Given the description of an element on the screen output the (x, y) to click on. 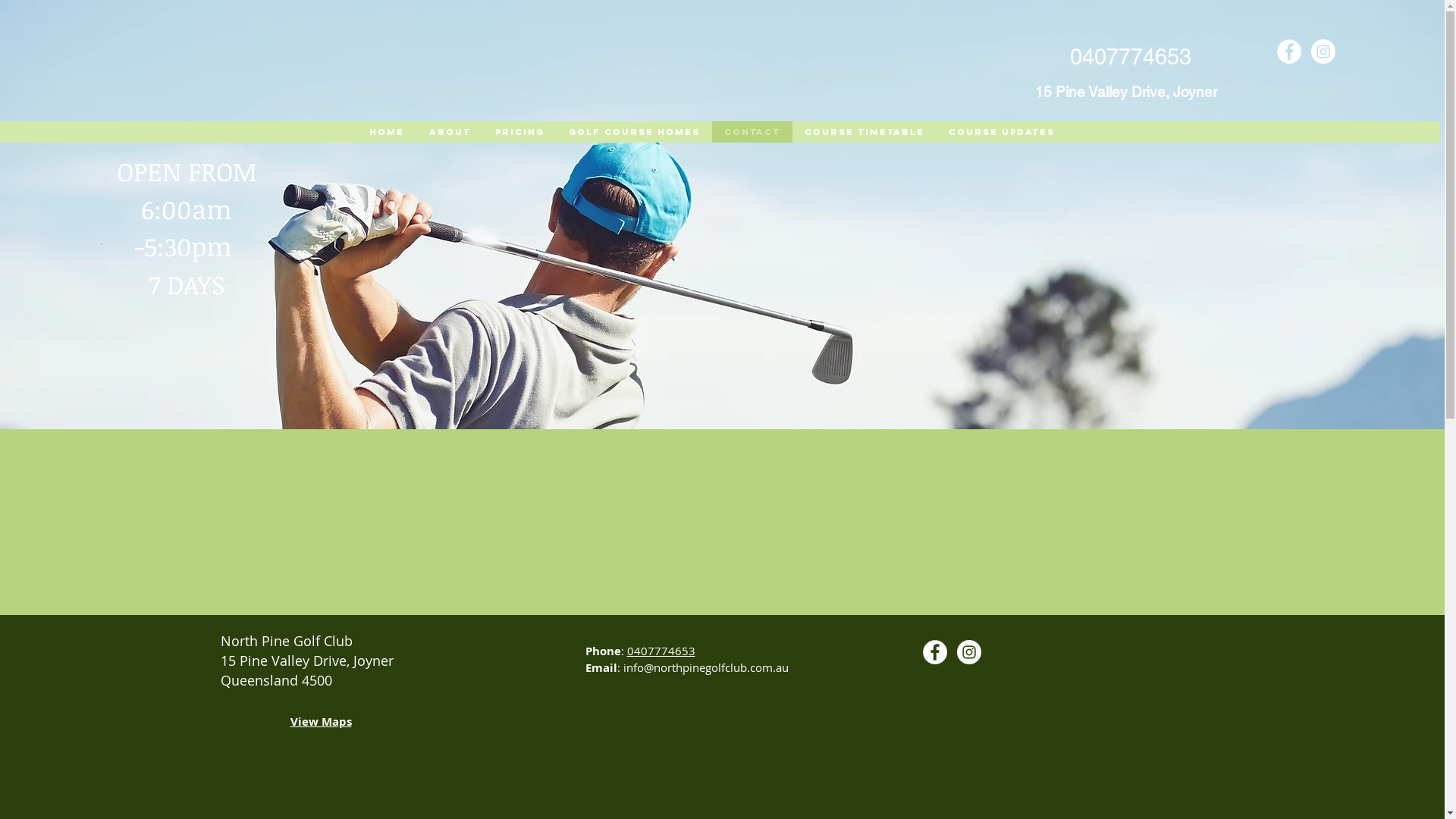
Golf Course Homes Element type: text (634, 131)
View Maps Element type: text (320, 722)
Course Updates Element type: text (1000, 131)
Home Element type: text (385, 131)
Pricing Element type: text (518, 131)
0407774653 Element type: text (660, 650)
Course Timetable Element type: text (863, 131)
About Element type: text (448, 131)
Contact Element type: text (751, 131)
info@northpinegolfclub.com.au Element type: text (705, 666)
